Given the description of an element on the screen output the (x, y) to click on. 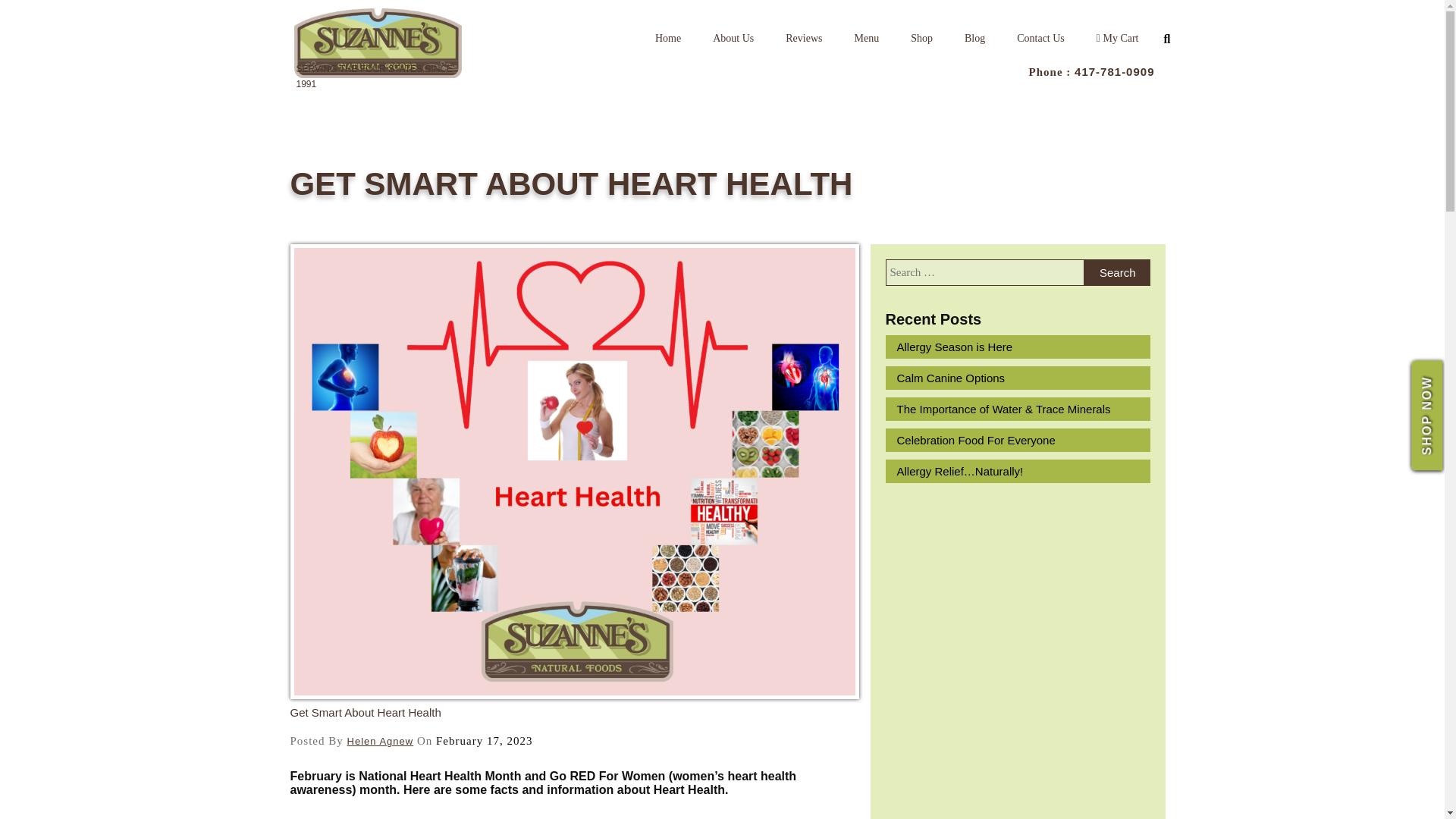
Menu (866, 38)
Blog (975, 38)
Reviews (804, 38)
Calm Canine Options (1018, 377)
Shop (922, 38)
Search (1117, 272)
Helen Agnew (380, 741)
Allergy Season is Here (1018, 346)
Get Smart About Heart Health (365, 712)
My Cart (1117, 38)
Celebration Food For Everyone (1018, 440)
Contact Us (1040, 38)
Home (668, 38)
About Us (733, 38)
417-781-0909 (1114, 71)
